Given the description of an element on the screen output the (x, y) to click on. 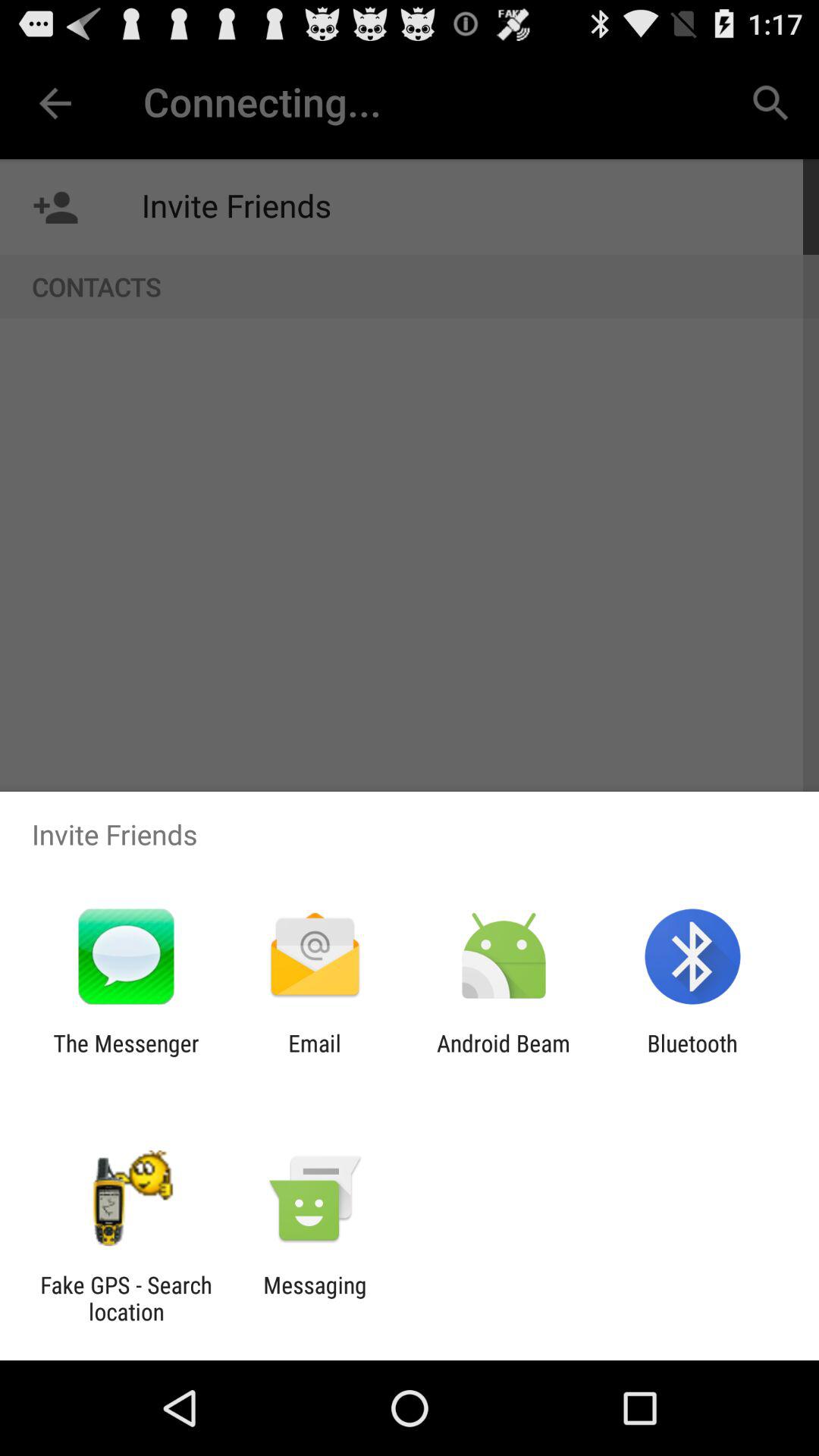
press the item to the left of the email app (126, 1056)
